Given the description of an element on the screen output the (x, y) to click on. 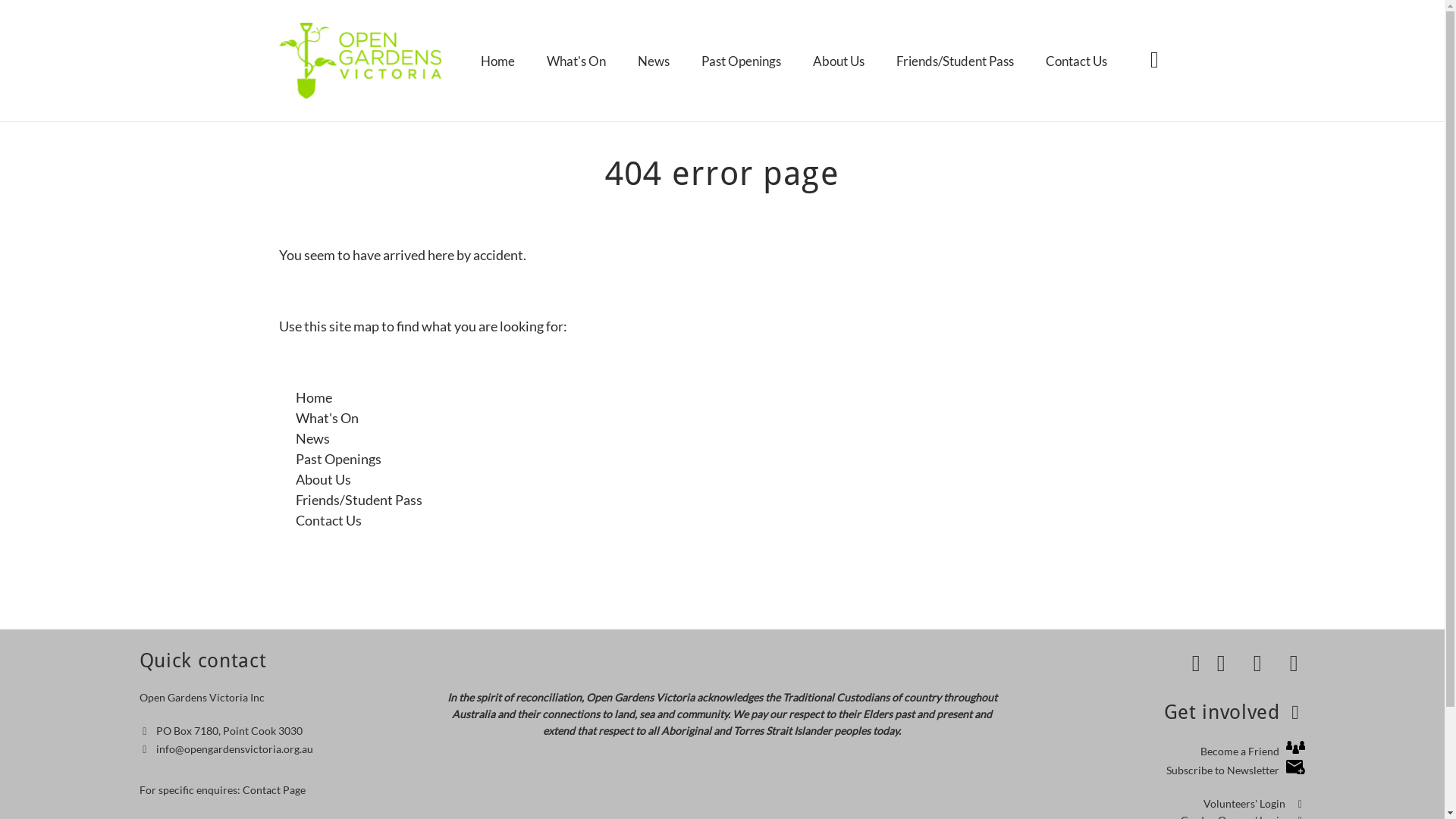
News Element type: text (312, 437)
What's On Element type: text (326, 417)
Subscribe to Newsletter    Element type: text (1235, 769)
What's On Element type: text (575, 60)
Get involved Element type: text (1234, 711)
Volunteers' Login    Element type: text (1254, 803)
Past Openings Element type: text (338, 458)
Past Openings Element type: text (741, 61)
Become a Friend    Element type: text (1252, 750)
Contact Page Element type: text (273, 789)
Home Element type: text (313, 397)
info@opengardensvictoria.org.au Element type: text (234, 748)
Contact Us Element type: text (328, 519)
Friends/Student Pass Element type: text (358, 499)
About Us Element type: text (838, 61)
About Us Element type: text (323, 478)
News Element type: text (653, 61)
Home Element type: text (497, 61)
Contact Us Element type: text (1076, 61)
Friends/Student Pass Element type: text (954, 61)
